Given the description of an element on the screen output the (x, y) to click on. 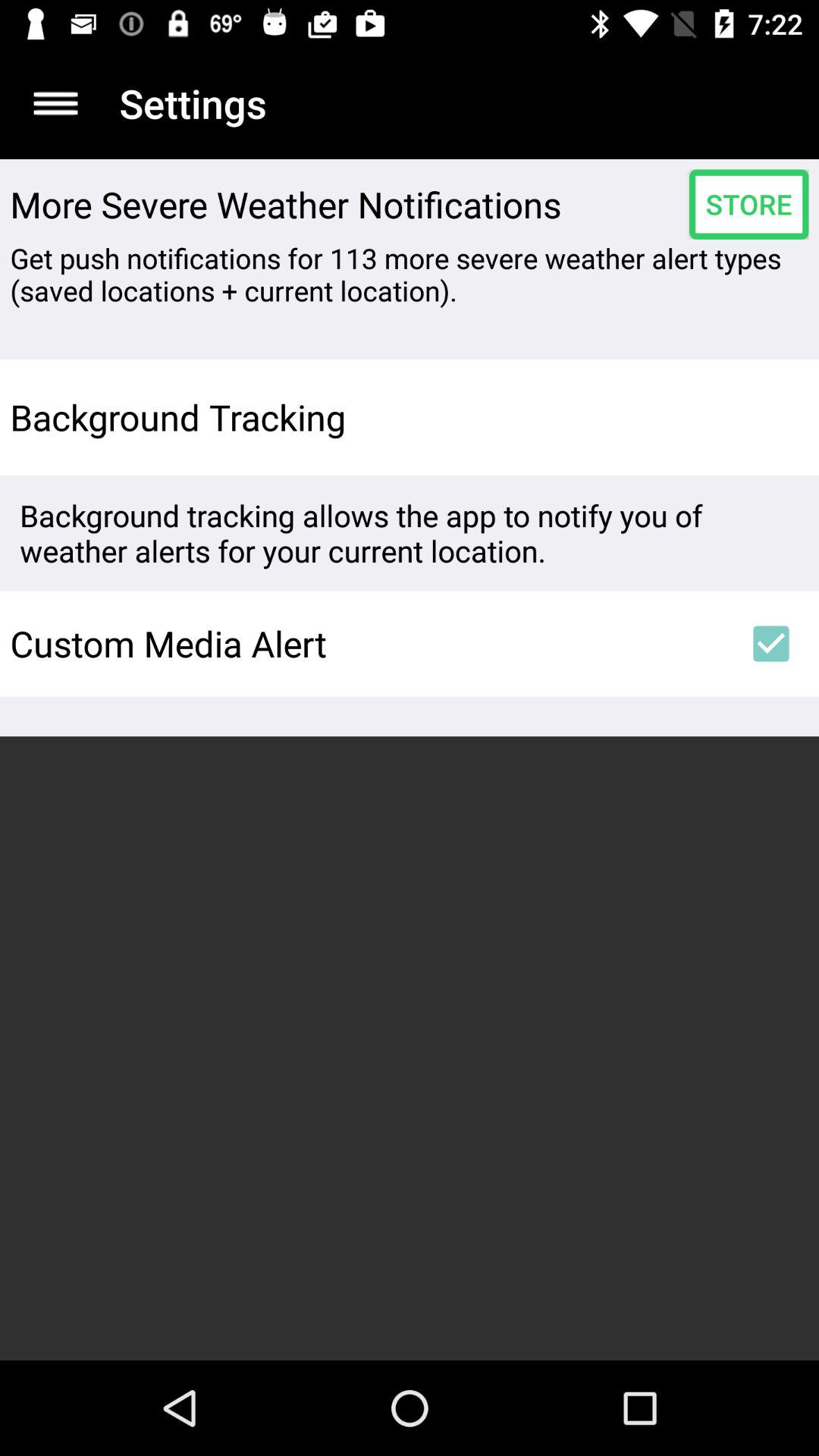
select store (748, 204)
